Given the description of an element on the screen output the (x, y) to click on. 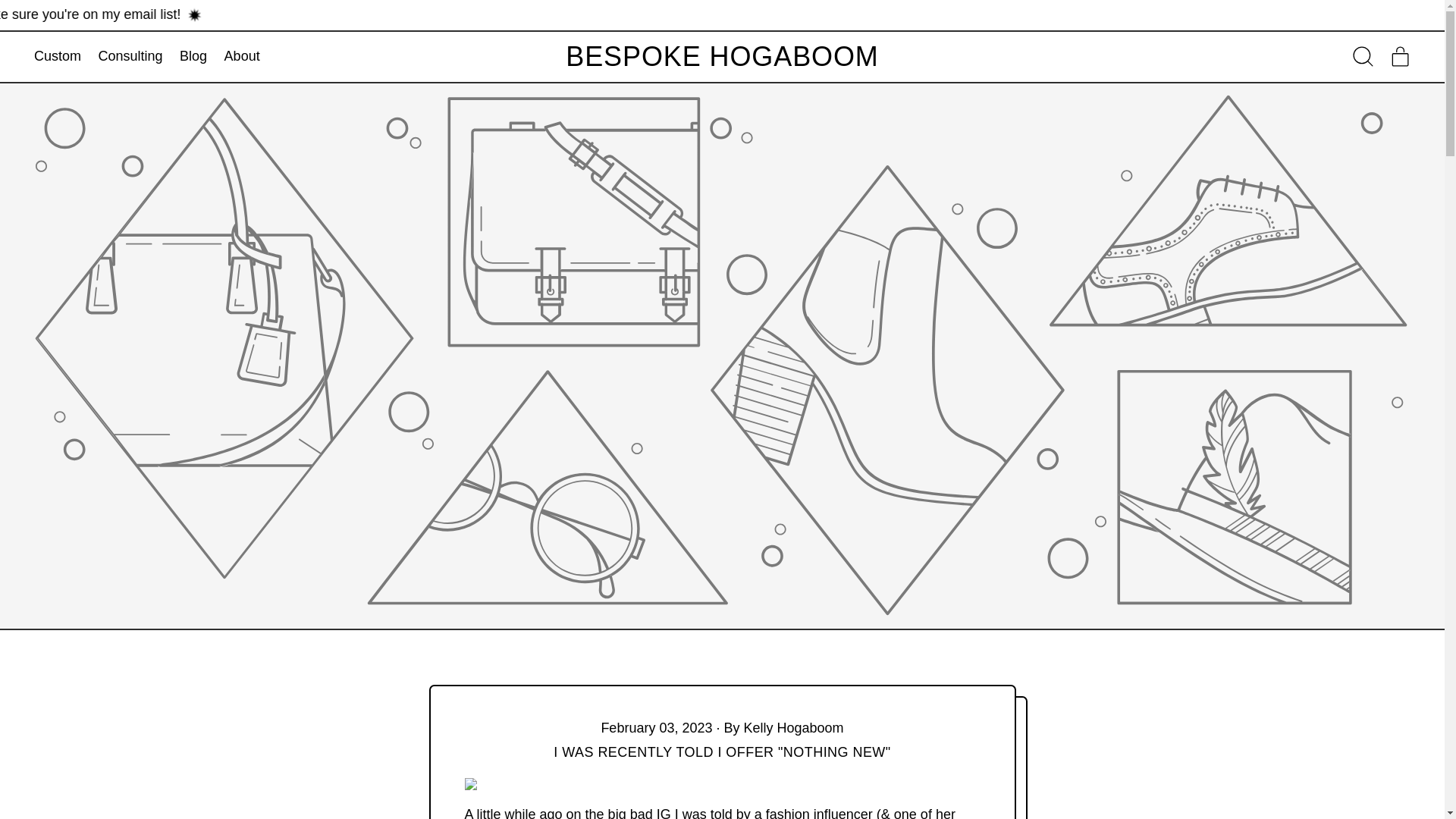
BESPOKE HOGABOOM (722, 56)
Custom (58, 56)
Consulting (1400, 56)
About (129, 56)
Search our site (241, 56)
Make sure you're on my email list! (1362, 56)
